Given the description of an element on the screen output the (x, y) to click on. 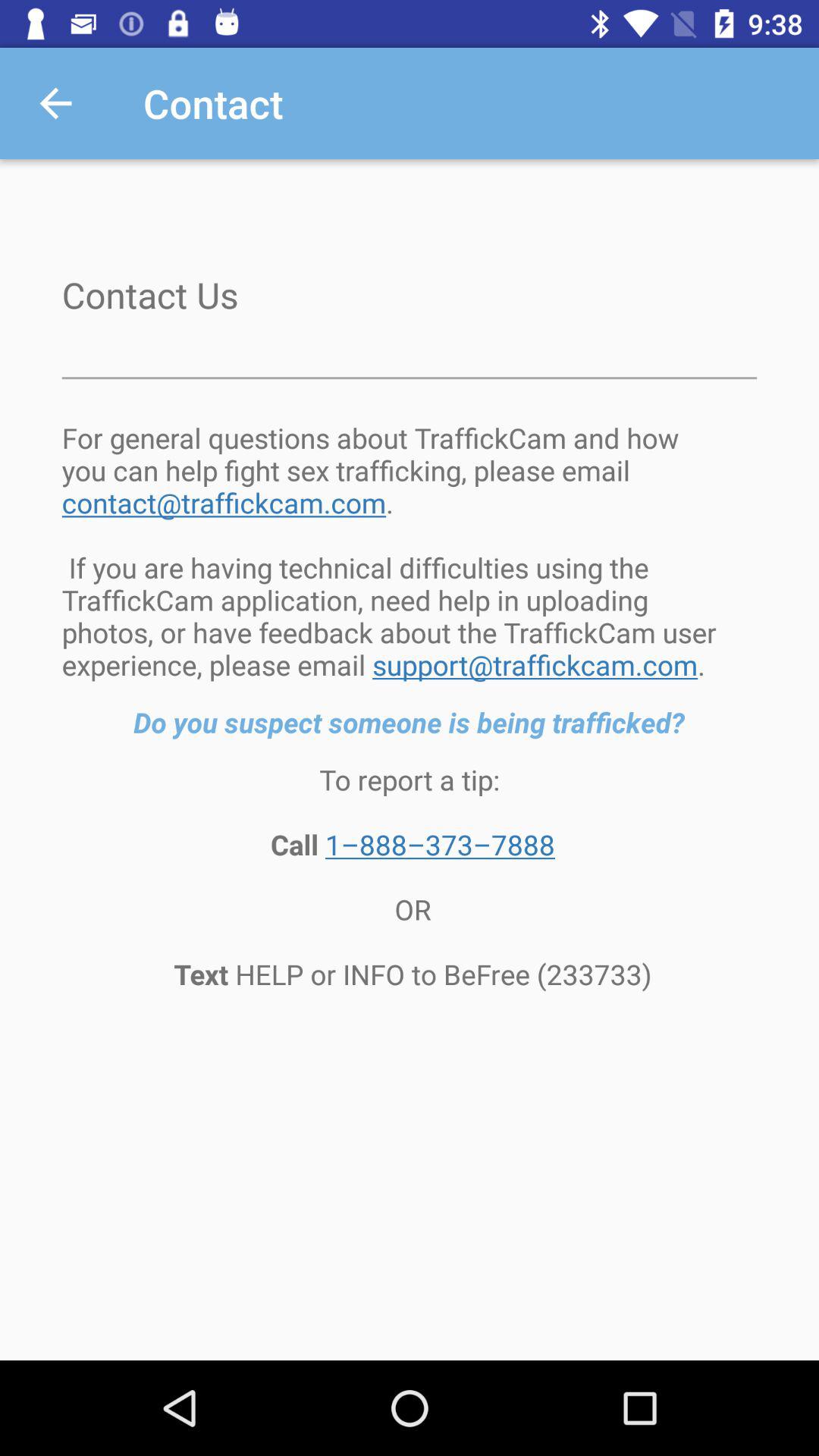
choose the item to the left of the contact (55, 103)
